Given the description of an element on the screen output the (x, y) to click on. 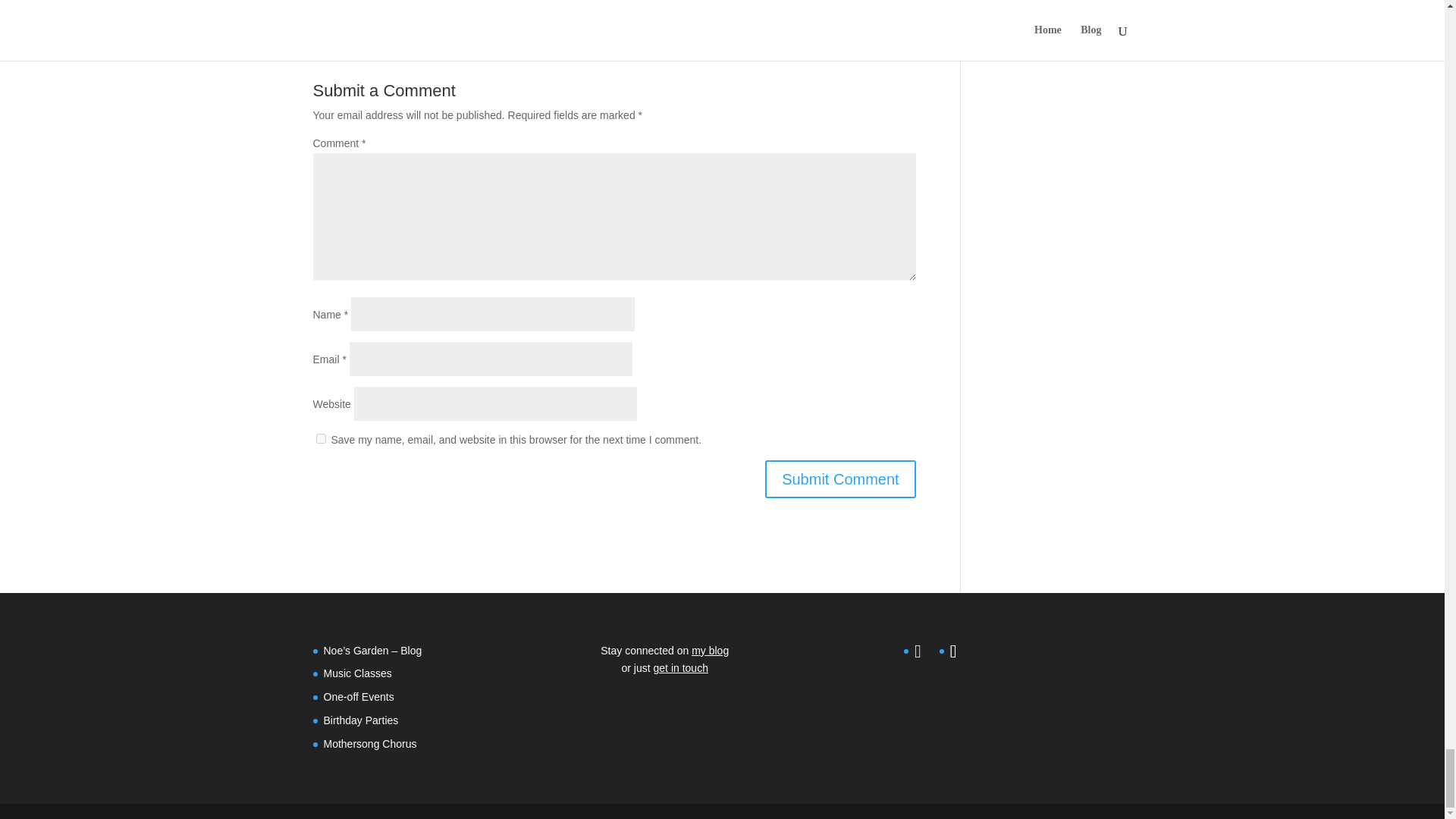
Submit Comment (840, 478)
yes (319, 438)
Submit Comment (840, 478)
